Given the description of an element on the screen output the (x, y) to click on. 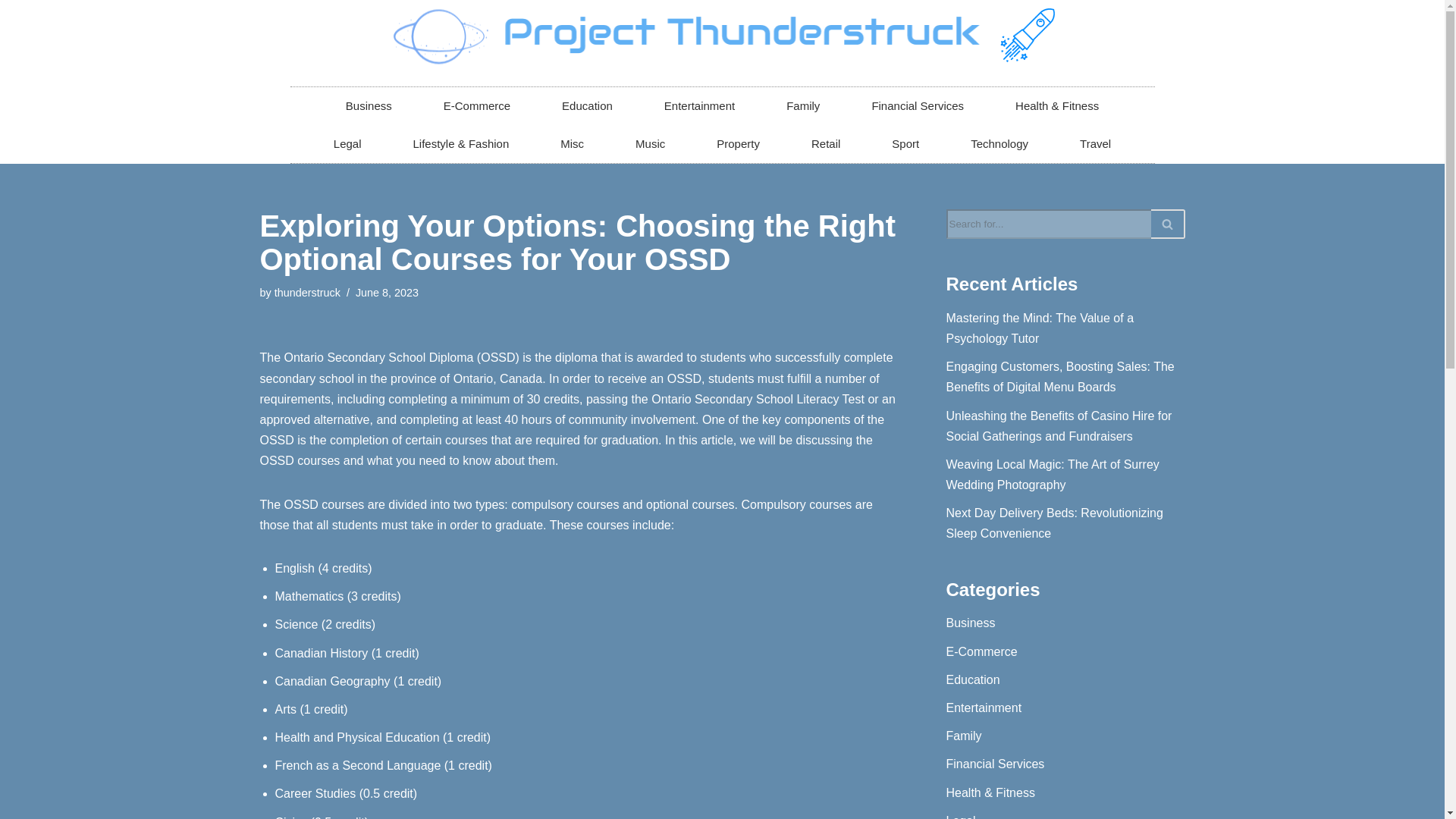
Posts by thunderstruck (307, 292)
Mastering the Mind: The Value of a Psychology Tutor (1040, 328)
thunderstruck (307, 292)
E-Commerce (476, 105)
Family (802, 105)
Entertainment (699, 105)
Misc (572, 143)
Financial Services (917, 105)
